Given the description of an element on the screen output the (x, y) to click on. 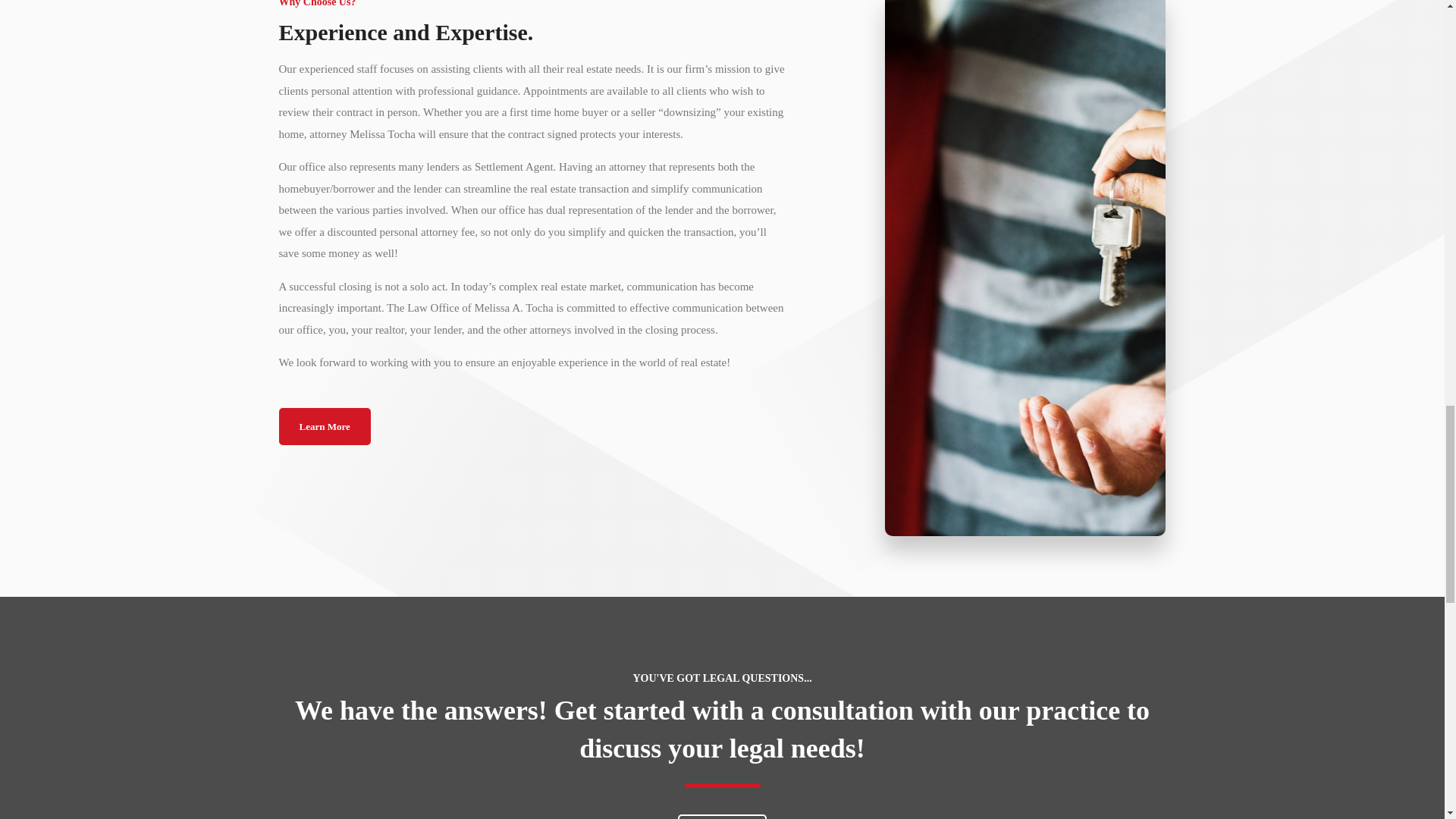
Let's Talk! (722, 816)
Learn More (325, 426)
